Given the description of an element on the screen output the (x, y) to click on. 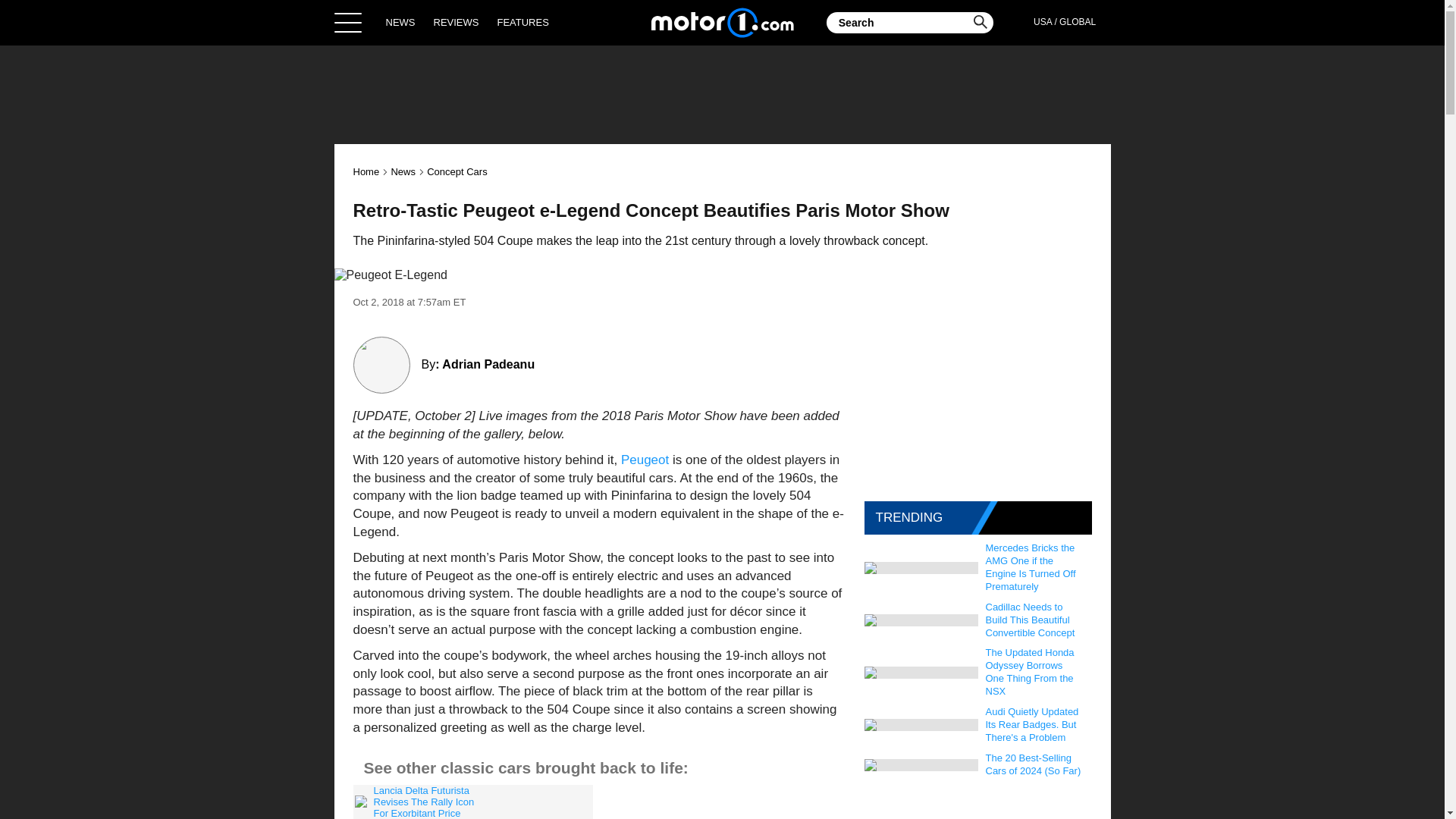
Home (721, 22)
Concept Cars (456, 171)
News (402, 171)
Home (366, 171)
FEATURES (522, 22)
NEWS (399, 22)
Adrian Padeanu (488, 364)
REVIEWS (456, 22)
Peugeot (644, 459)
